Given the description of an element on the screen output the (x, y) to click on. 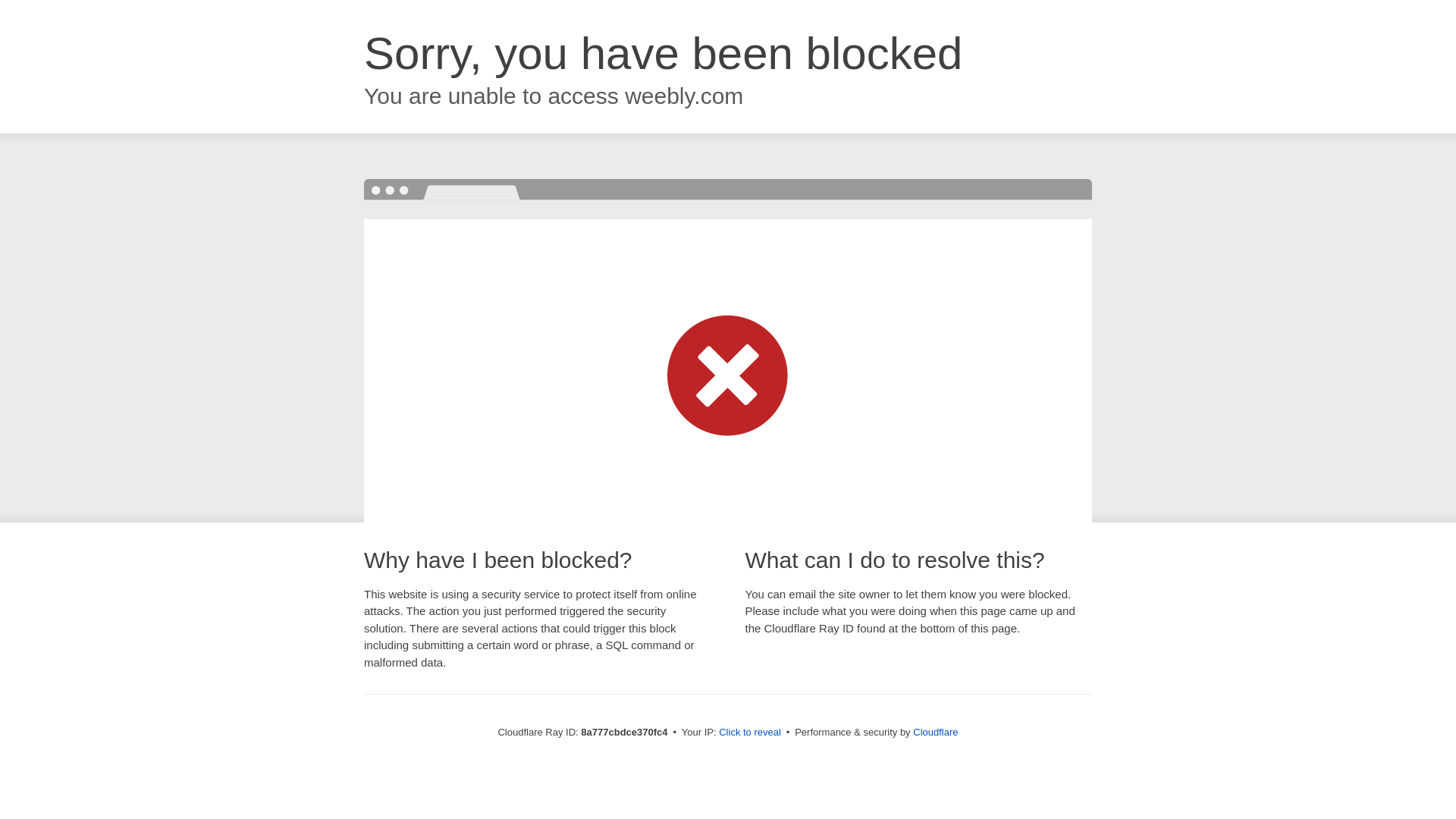
Click to reveal (749, 732)
Cloudflare (935, 731)
